Given the description of an element on the screen output the (x, y) to click on. 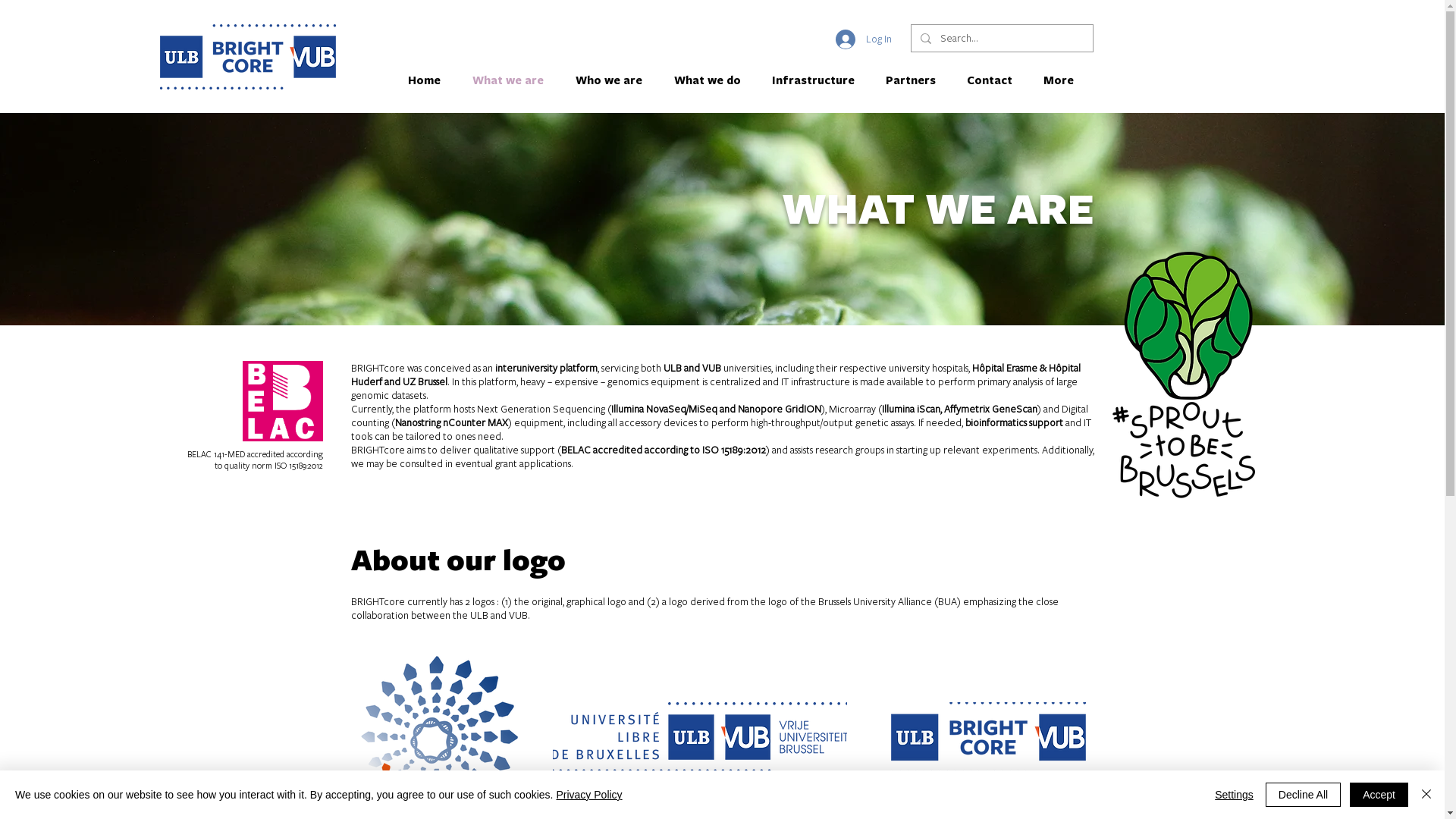
Decline All Element type: text (1302, 794)
What we do Element type: text (711, 80)
What we are Element type: text (512, 80)
Home Element type: text (427, 80)
Partners Element type: text (913, 80)
Contact Element type: text (993, 80)
Infrastructure Element type: text (816, 80)
Who we are Element type: text (613, 80)
Accept Element type: text (1378, 794)
Log In Element type: text (863, 39)
Privacy Policy Element type: text (588, 794)
